Given the description of an element on the screen output the (x, y) to click on. 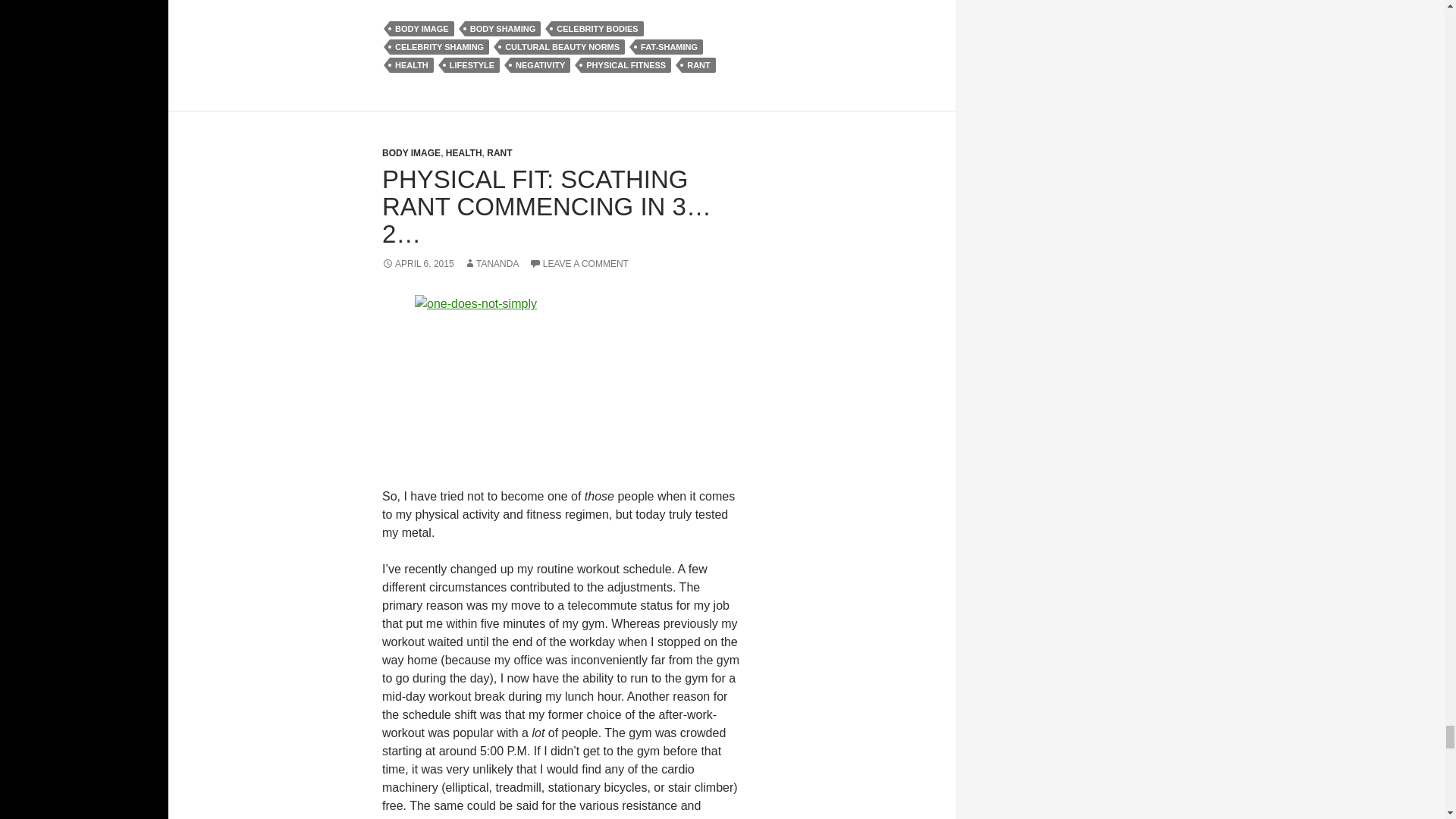
one-does-not-simply (561, 381)
